Given the description of an element on the screen output the (x, y) to click on. 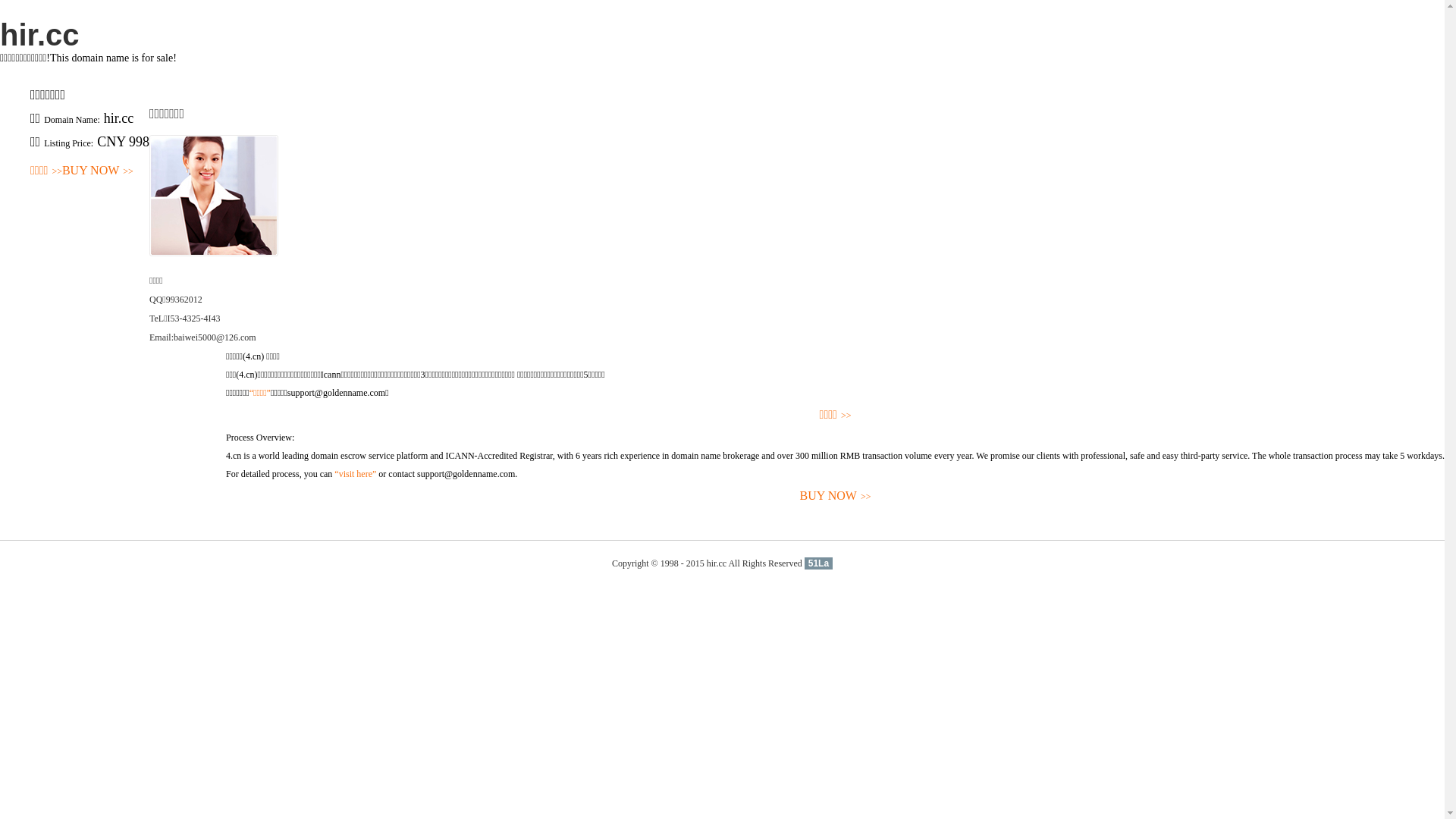
BUY NOW>> Element type: text (97, 170)
BUY NOW>> Element type: text (834, 496)
51La Element type: text (818, 563)
